Given the description of an element on the screen output the (x, y) to click on. 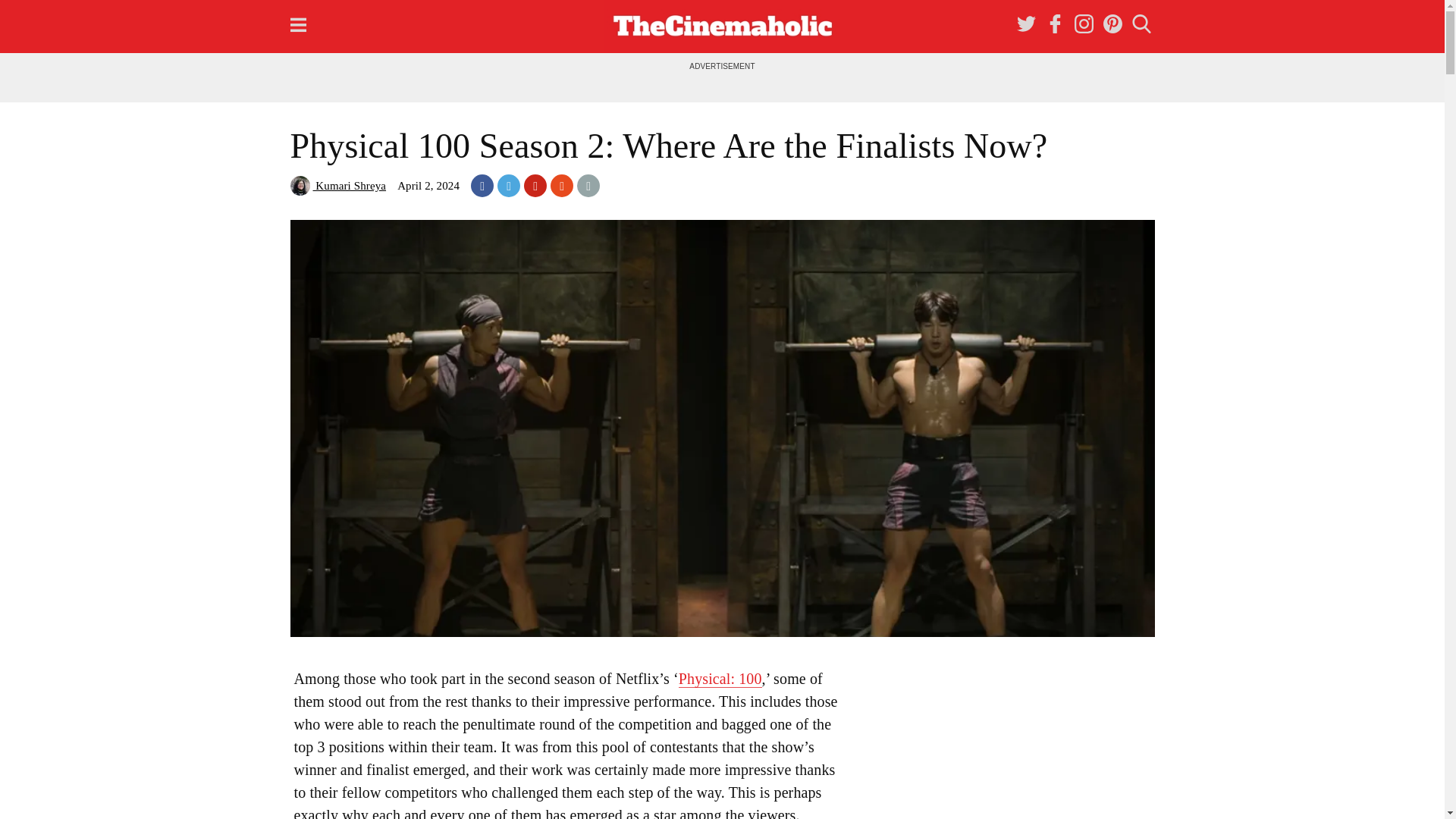
Kumari Shreya (337, 185)
Physical: 100 (719, 678)
